Given the description of an element on the screen output the (x, y) to click on. 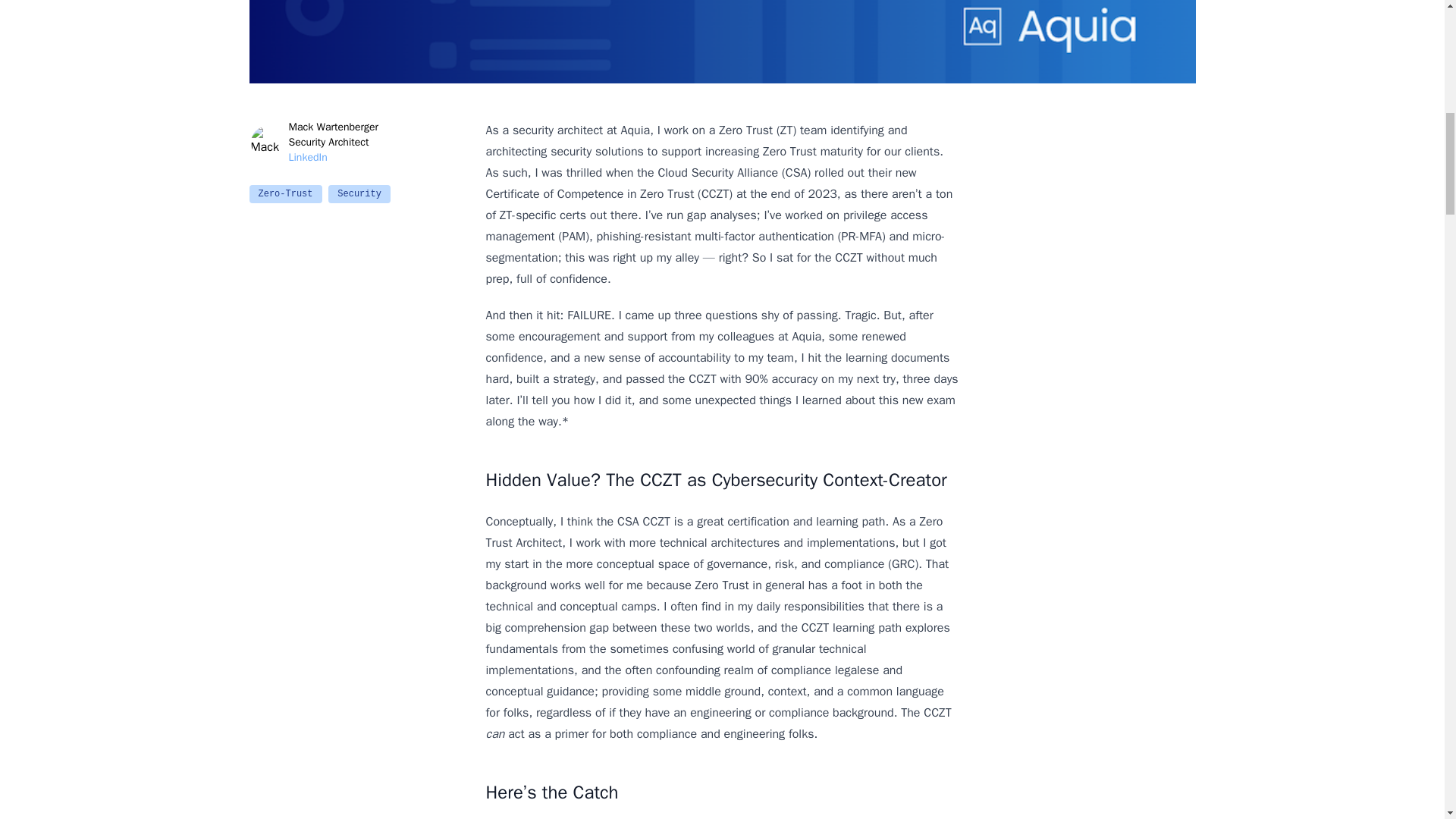
Zero-Trust (284, 194)
LinkedIn (333, 157)
Security (359, 194)
